Given the description of an element on the screen output the (x, y) to click on. 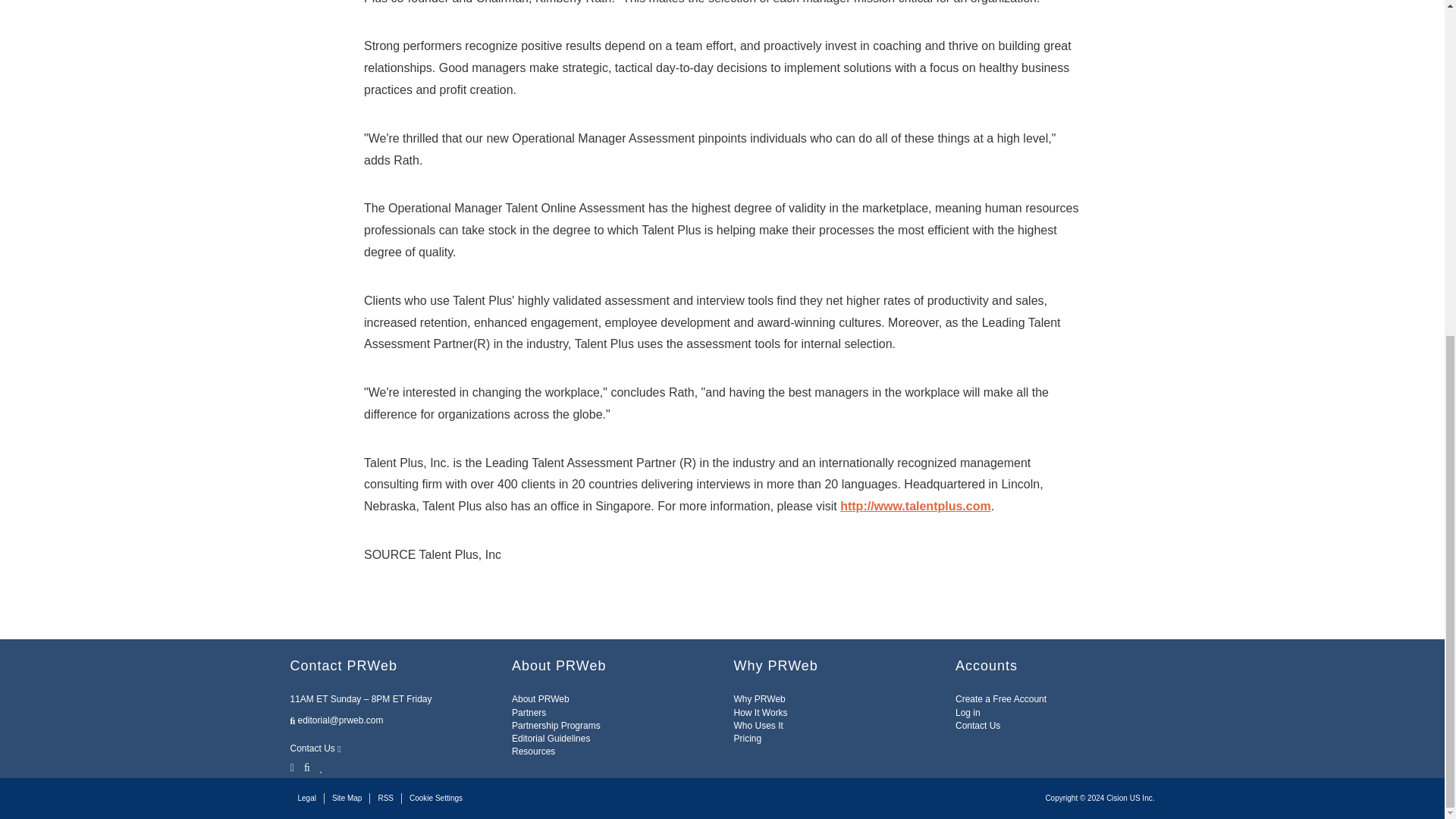
Partners (529, 712)
Partnership Programs (555, 725)
Facebook (306, 766)
Resources (533, 751)
How It Works (760, 712)
Editorial Guidelines (550, 738)
About PRWeb (540, 698)
Why PRWeb (759, 698)
